Given the description of an element on the screen output the (x, y) to click on. 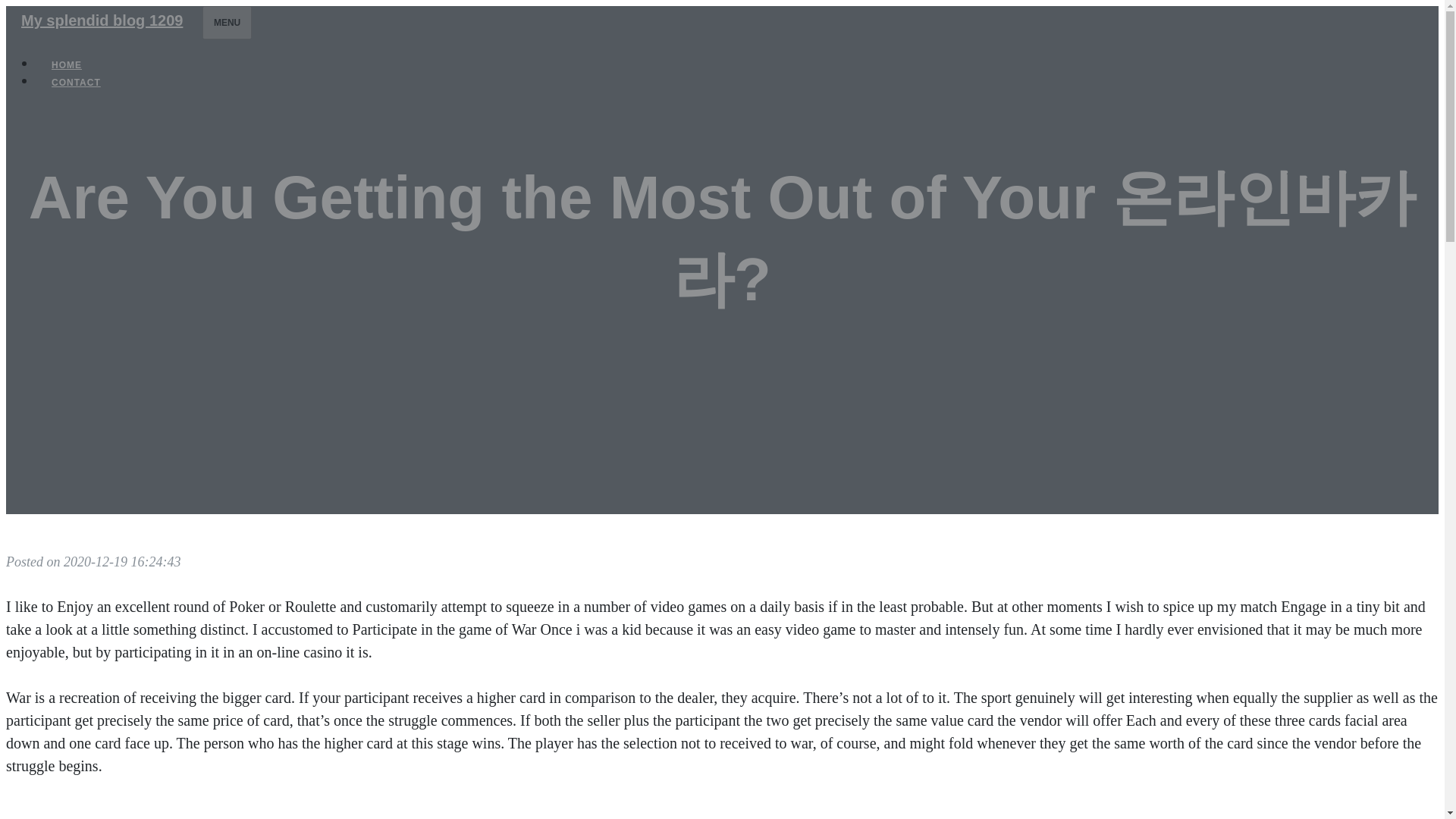
My splendid blog 1209 (101, 20)
MENU (226, 22)
CONTACT (76, 82)
HOME (66, 64)
